Given the description of an element on the screen output the (x, y) to click on. 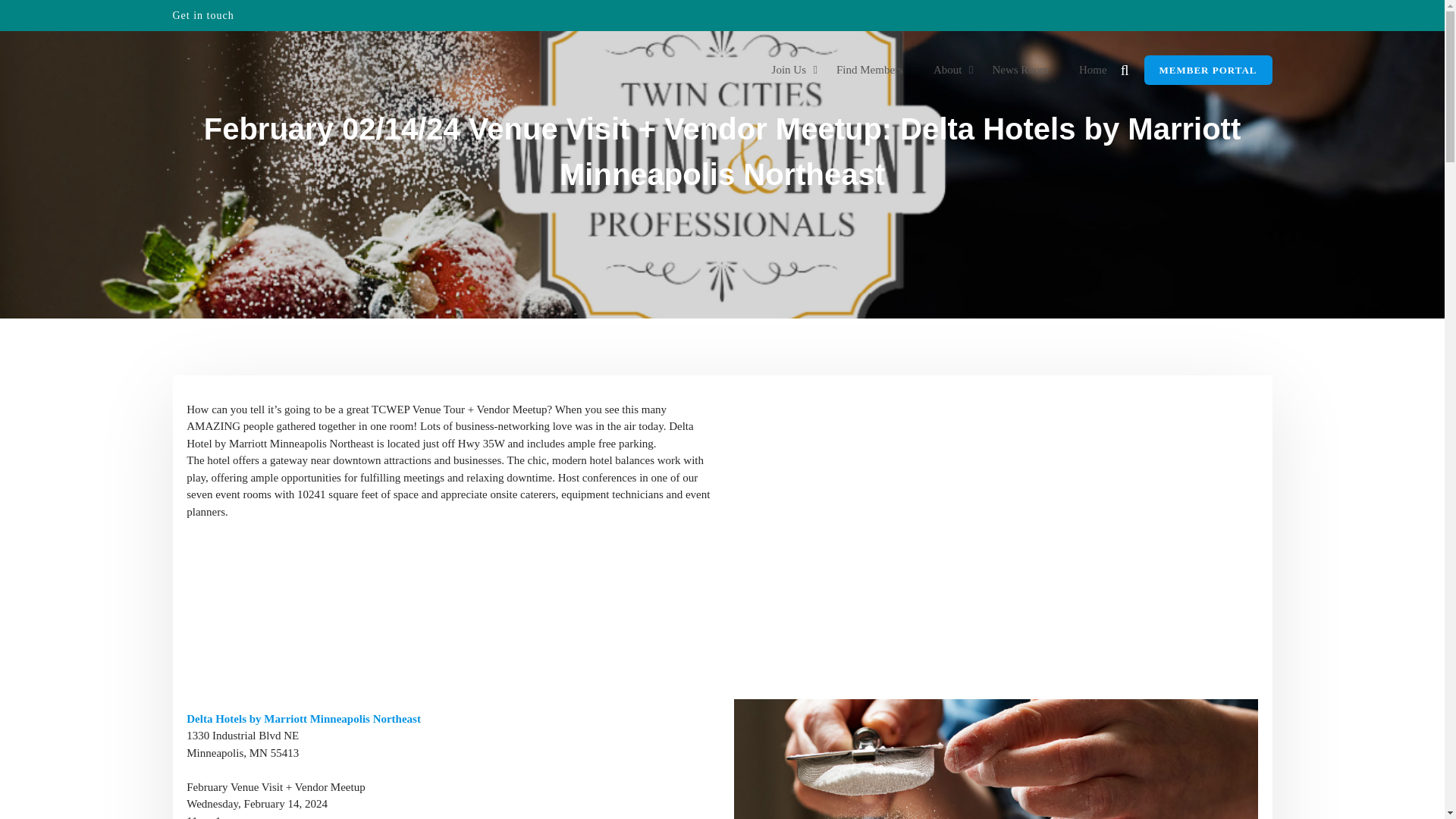
Join Us (788, 69)
Twin Cities Wedding and Event Professionals (418, 86)
Get in touch (203, 15)
